Given the description of an element on the screen output the (x, y) to click on. 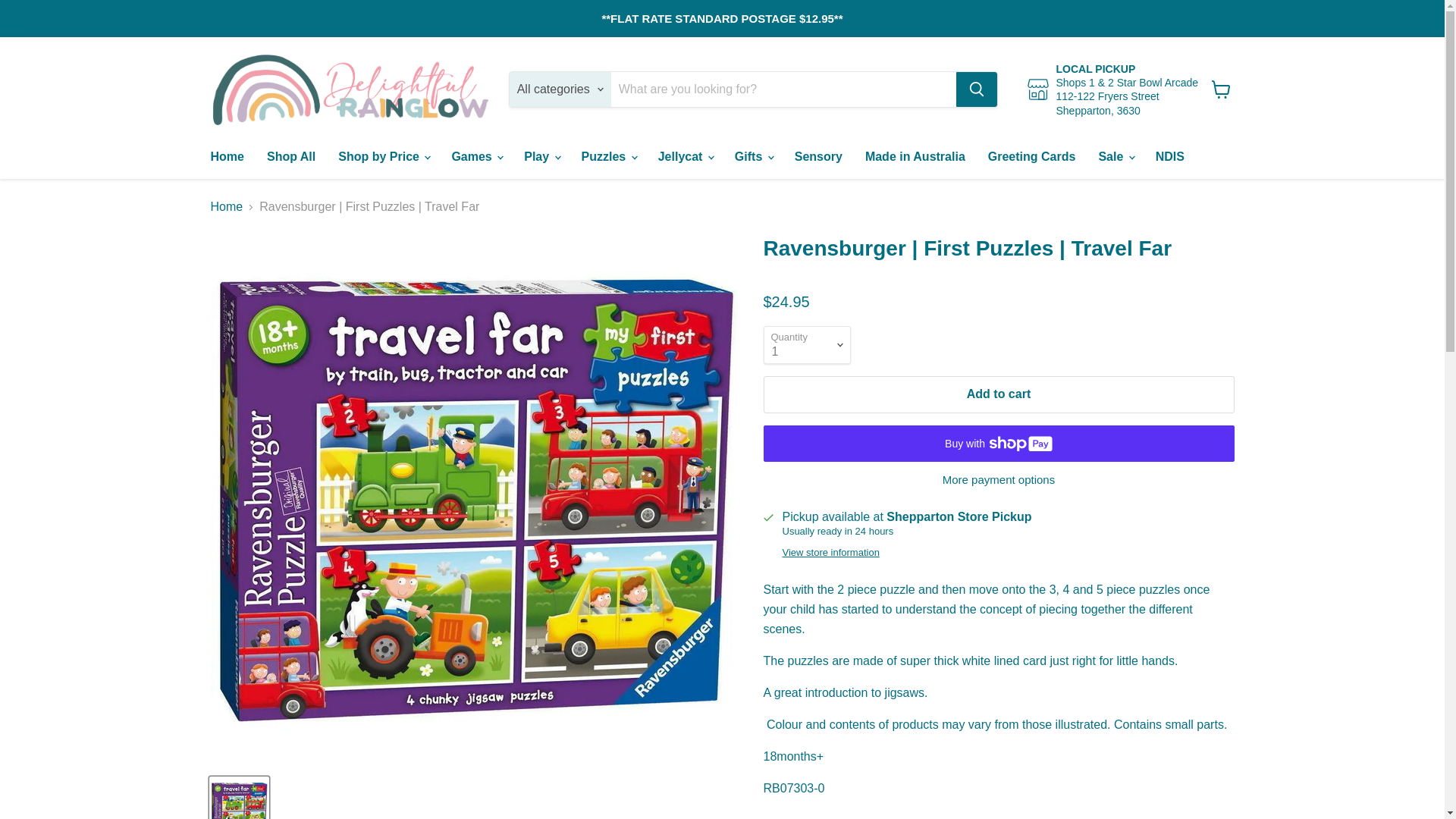
Play (540, 156)
Games (475, 156)
View cart (1221, 89)
Shop All (291, 156)
Home (226, 156)
Shop by Price (382, 156)
